Given the description of an element on the screen output the (x, y) to click on. 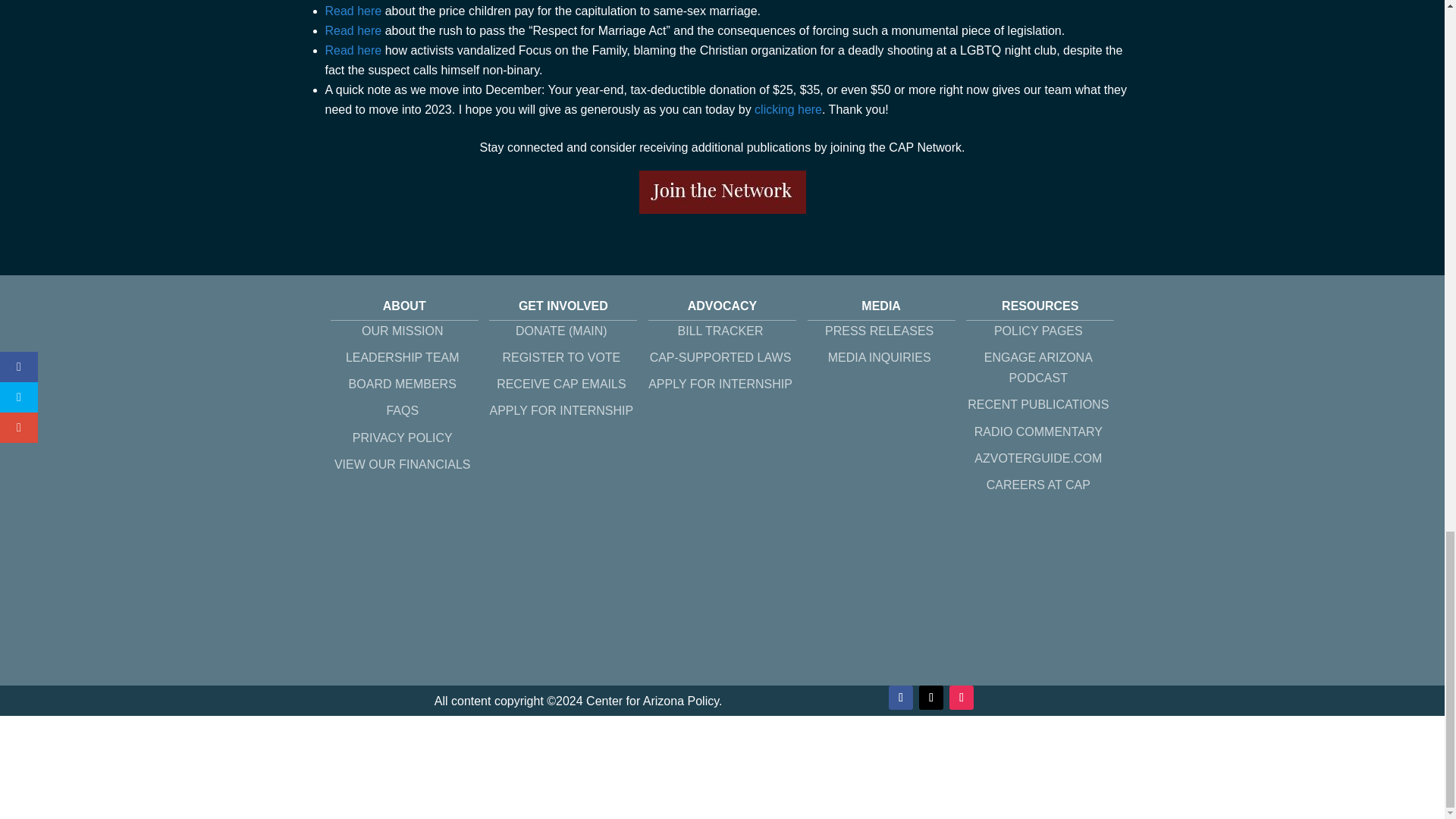
Follow on X (930, 697)
Follow on Instagram (961, 697)
Follow on Facebook (900, 697)
